Given the description of an element on the screen output the (x, y) to click on. 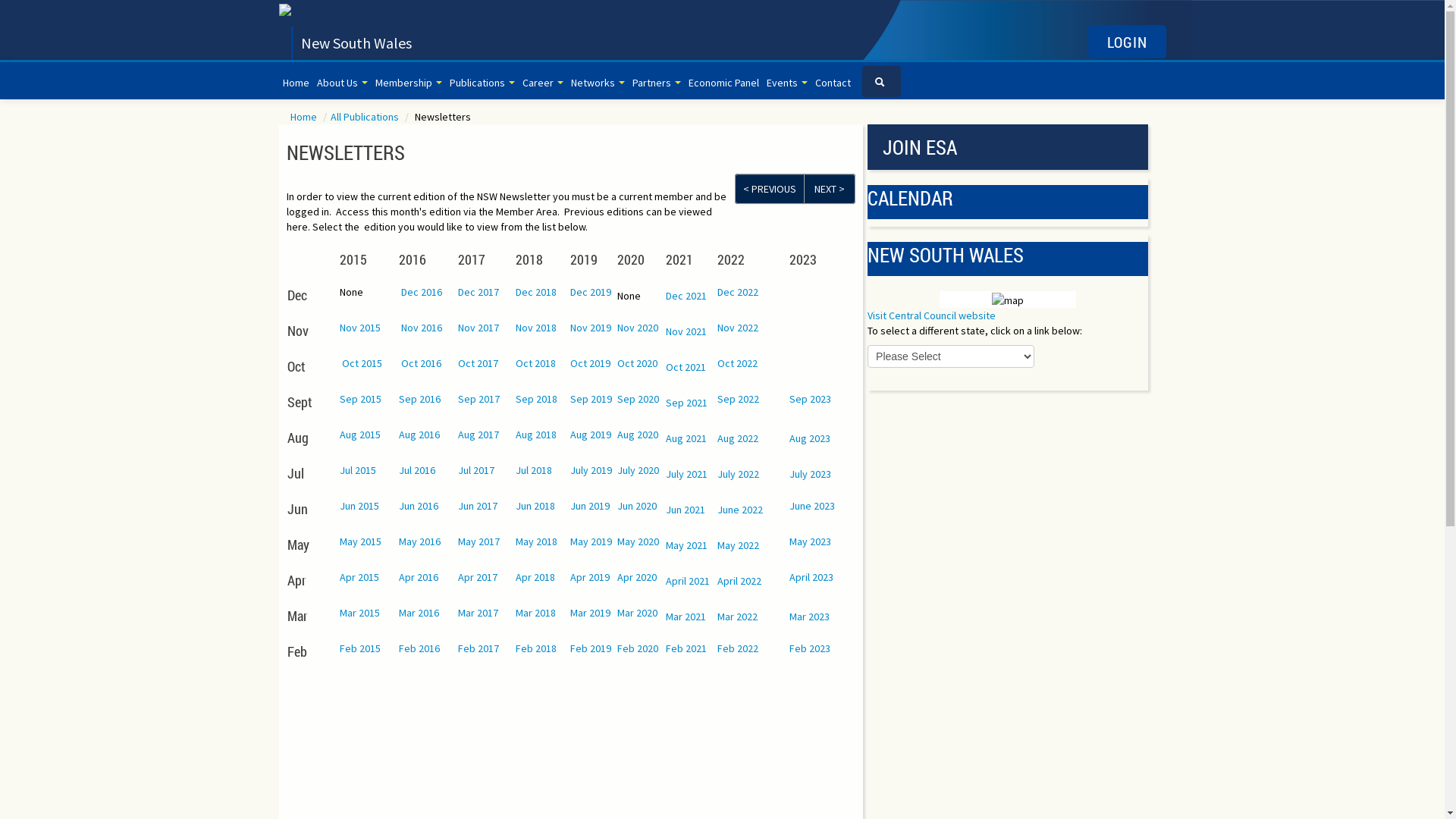
Apr 2017 Element type: text (477, 576)
Jun 2017 Element type: text (477, 505)
July 2019 Element type: text (590, 469)
Mar 2016 Element type: text (418, 611)
Mar 2015 Element type: text (359, 611)
Feb 2016 Element type: text (418, 648)
July 2021 Element type: text (686, 473)
Mar 2018 Element type: text (535, 611)
Apr 2018 Element type: text (535, 576)
Nov 2018 Element type: text (535, 326)
Oct 2019 Element type: text (590, 363)
Sep 2018 Element type: text (536, 397)
Apr 2016 Element type: text (418, 576)
Oct 2015 Element type: text (362, 363)
Apr 2019 Element type: text (589, 576)
Oct 2022 Element type: text (737, 363)
Dec 2019 Element type: text (590, 291)
Visit Central Council website Element type: text (931, 315)
Nov 2015 Element type: text (359, 326)
May 2022 Element type: text (738, 545)
Sep 2023 Element type: text (810, 397)
July 2023 Element type: text (810, 473)
LOGIN Element type: text (1126, 41)
Jun 2021 Element type: text (685, 508)
Mar 2021 Element type: text (685, 616)
Apr 2015 Element type: text (359, 576)
Home Element type: text (296, 82)
Aug 2019 Element type: text (590, 434)
Sep 2019 Element type: text (590, 397)
Oct 2020 Element type: text (637, 363)
Membership Element type: text (408, 82)
Feb 2017 Element type: text (478, 648)
Aug 2018 Element type: text (535, 434)
Nov 2019 Element type: text (590, 326)
< PREVIOUS Element type: text (768, 188)
Sep 2016 Element type: text (419, 397)
Feb 2019 Element type: text (590, 648)
Home Element type: text (303, 116)
Sep 2020 Element type: text (637, 397)
Jun 2018 Element type: text (535, 505)
Aug 2023 Element type: text (809, 437)
May 2016 Element type: text (419, 540)
Jun 2019 Element type: text (589, 505)
Feb 2018 Element type: text (535, 648)
Aug 2020 Element type: text (637, 434)
Aug 2015 Element type: text (359, 434)
Feb 2021 Element type: text (685, 648)
Mar 2023 Element type: text (809, 616)
Jun 2020 Element type: text (636, 505)
May 2017 Element type: text (478, 540)
Nov 2017 Element type: text (478, 326)
Contact Element type: text (832, 82)
Events Element type: text (786, 82)
JOIN ESA Element type: text (1007, 146)
Publications Element type: text (481, 82)
Partners Element type: text (655, 82)
Mar 2022 Element type: text (737, 616)
April 2022 Element type: text (739, 579)
Dec 2022 Element type: text (737, 291)
NEXT > Element type: text (829, 188)
June 2022 Element type: text (739, 508)
May 2019 Element type: text (590, 540)
Feb 2015 Element type: text (359, 648)
NEW SOUTH WALES Element type: text (945, 254)
Aug 2022 Element type: text (737, 437)
Nov 2016 Element type: text (421, 326)
Oct 2016 Element type: text (421, 363)
May 2023 Element type: text (810, 540)
Oct 2018 Element type: text (535, 363)
Nov 2020 Element type: text (637, 326)
Networks Element type: text (597, 82)
Dec 2018 Element type: text (535, 291)
Dec 2021 Element type: text (685, 294)
April 2023 Element type: text (811, 576)
April 2021 Element type: text (687, 579)
Mar 2017 Element type: text (478, 611)
May 2015 Element type: text (360, 540)
Feb 2020 Element type: text (637, 648)
Mar 2019 Element type: text (590, 611)
Nov 2022 Element type: text (737, 326)
Aug 2021 Element type: text (685, 437)
About Us Element type: text (341, 82)
Oct 2021 Element type: text (685, 366)
Career Element type: text (542, 82)
Mar 2020 Element type: text (637, 611)
Sep 2022 Element type: text (738, 397)
July 2022 Element type: text (738, 473)
Aug 2017 Element type: text (478, 434)
Jul 2015 Element type: text (357, 469)
Feb 2023 Element type: text (809, 648)
July 2020 Element type: text (637, 469)
Oct 2017 Element type: text (478, 363)
Apr 2020 Element type: text (636, 576)
Dec 2016 Element type: text (421, 291)
May 2020 Element type: text (637, 540)
May 2018 Element type: text (536, 540)
Jun 2016 Element type: text (418, 505)
May 2021 Element type: text (686, 545)
Jul 2017 Element type: text (476, 469)
All Publications Element type: text (365, 116)
June 2023 Element type: text (811, 505)
Jul 2018 Element type: text (533, 469)
Nov 2021 Element type: text (685, 331)
Dec 2017 Element type: text (478, 291)
Sep 2021 Element type: text (686, 402)
Economic Panel Element type: text (723, 82)
CALENDAR Element type: text (910, 197)
Feb 2022 Element type: text (737, 648)
Jun 2015 Element type: text (359, 505)
Aug 2016 Element type: text (418, 434)
Sep 2015 Element type: text (360, 397)
Sep 2017 Element type: text (478, 397)
Jul 2016 Element type: text (416, 469)
